Given the description of an element on the screen output the (x, y) to click on. 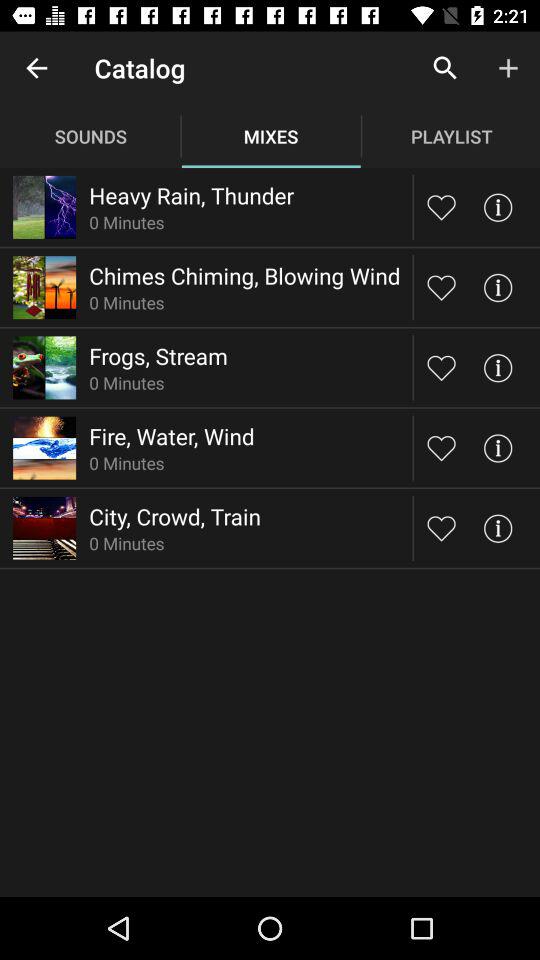
select icon next to catalog app (36, 68)
